Given the description of an element on the screen output the (x, y) to click on. 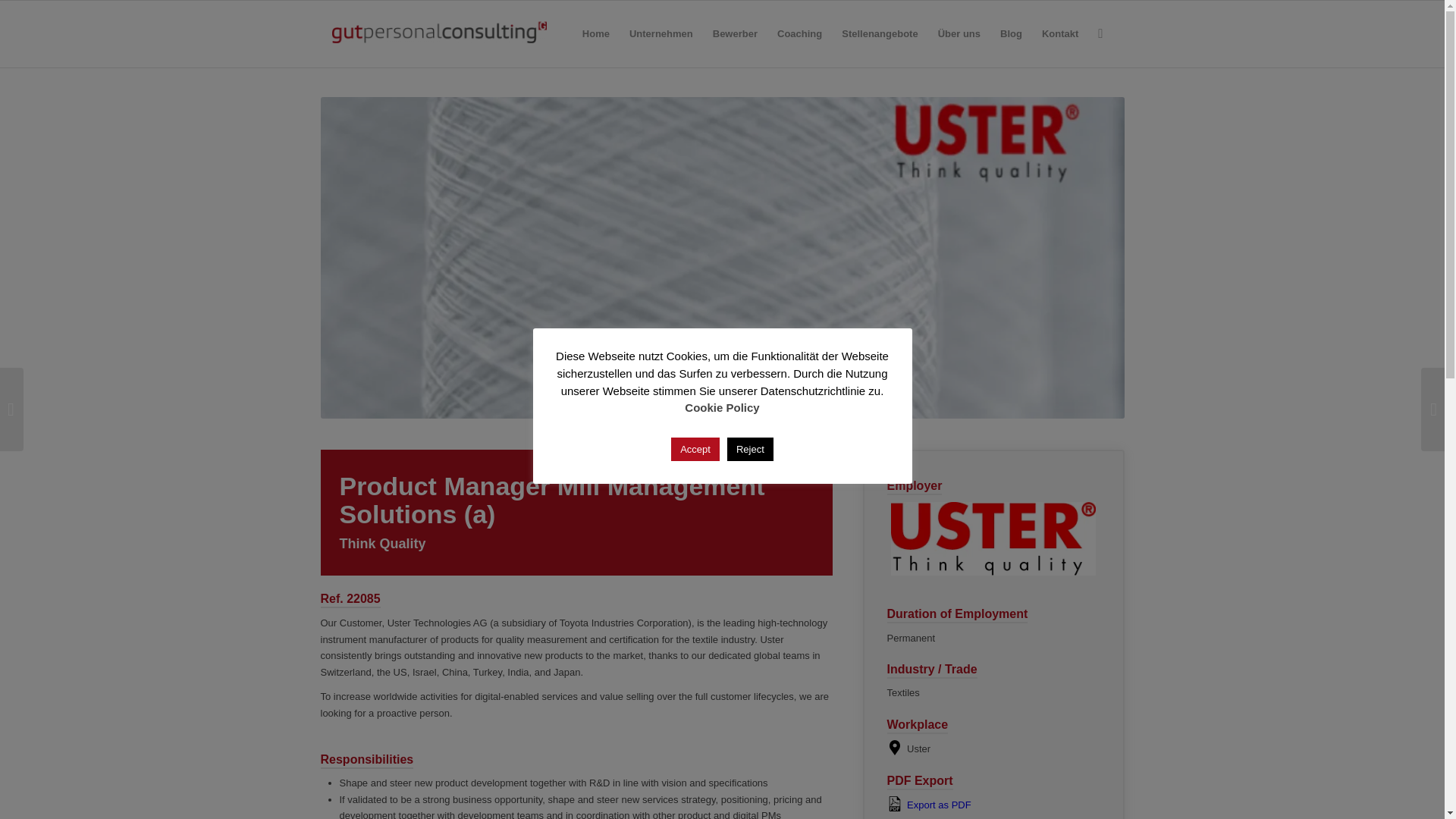
Uster Technologies AG (993, 538)
Unternehmen (661, 33)
Bewerber (735, 33)
Coaching (799, 33)
Cookie Policy (721, 407)
Accept (695, 448)
Export as PDF (993, 804)
Stellenangebote (879, 33)
Reject (749, 448)
